Given the description of an element on the screen output the (x, y) to click on. 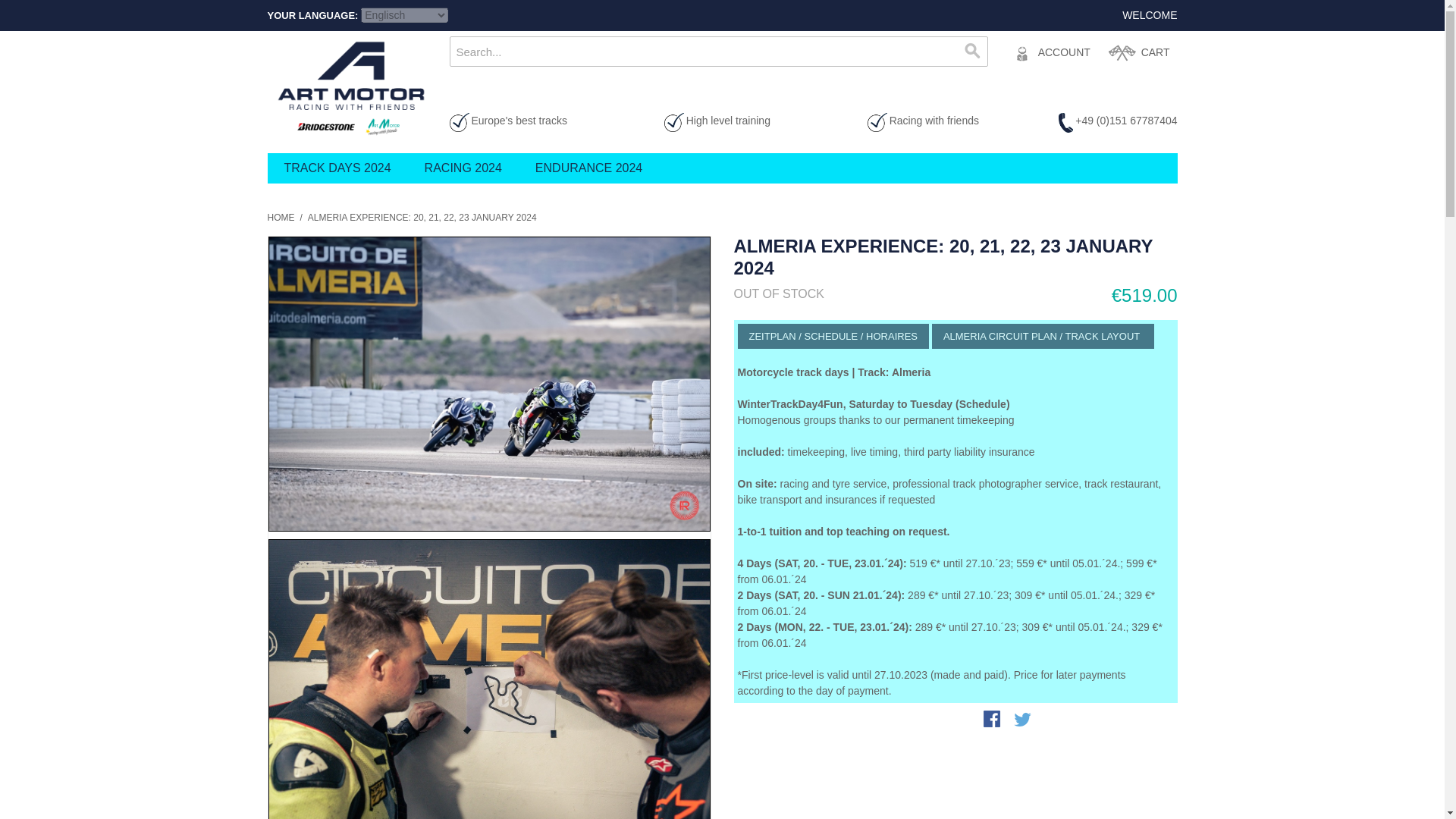
TRACK DAYS 2024 (336, 168)
Search (971, 51)
CART (1138, 52)
Your Language (404, 14)
ACCOUNT (1050, 52)
